Given the description of an element on the screen output the (x, y) to click on. 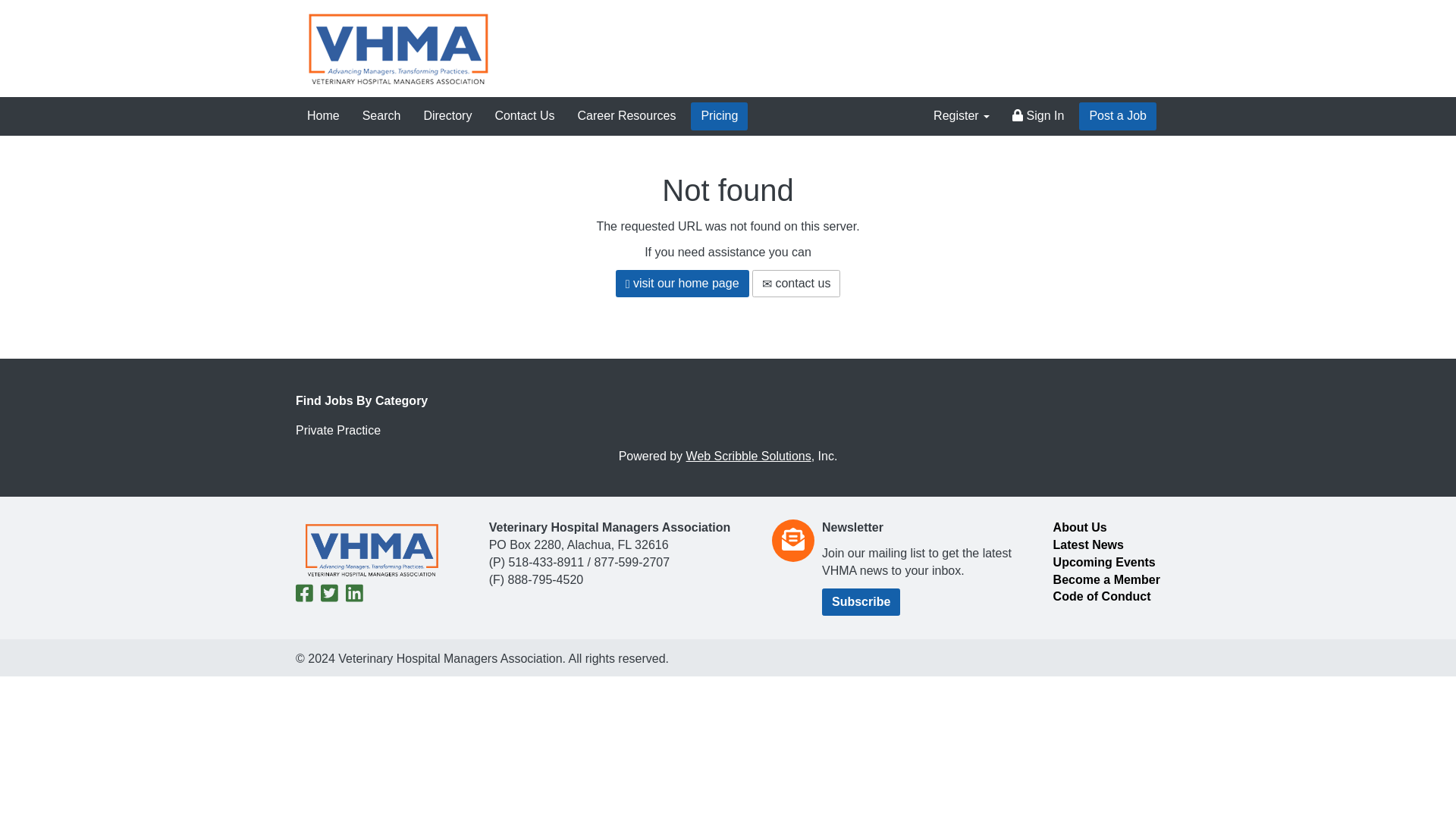
About Us (1079, 526)
Find Jobs By Category (727, 401)
Latest News (1088, 544)
Career Resources (626, 116)
Search (381, 116)
Home (322, 116)
Become a Member (1106, 579)
Upcoming Events (1104, 562)
Directory (447, 116)
Post a Job (1117, 116)
